Given the description of an element on the screen output the (x, y) to click on. 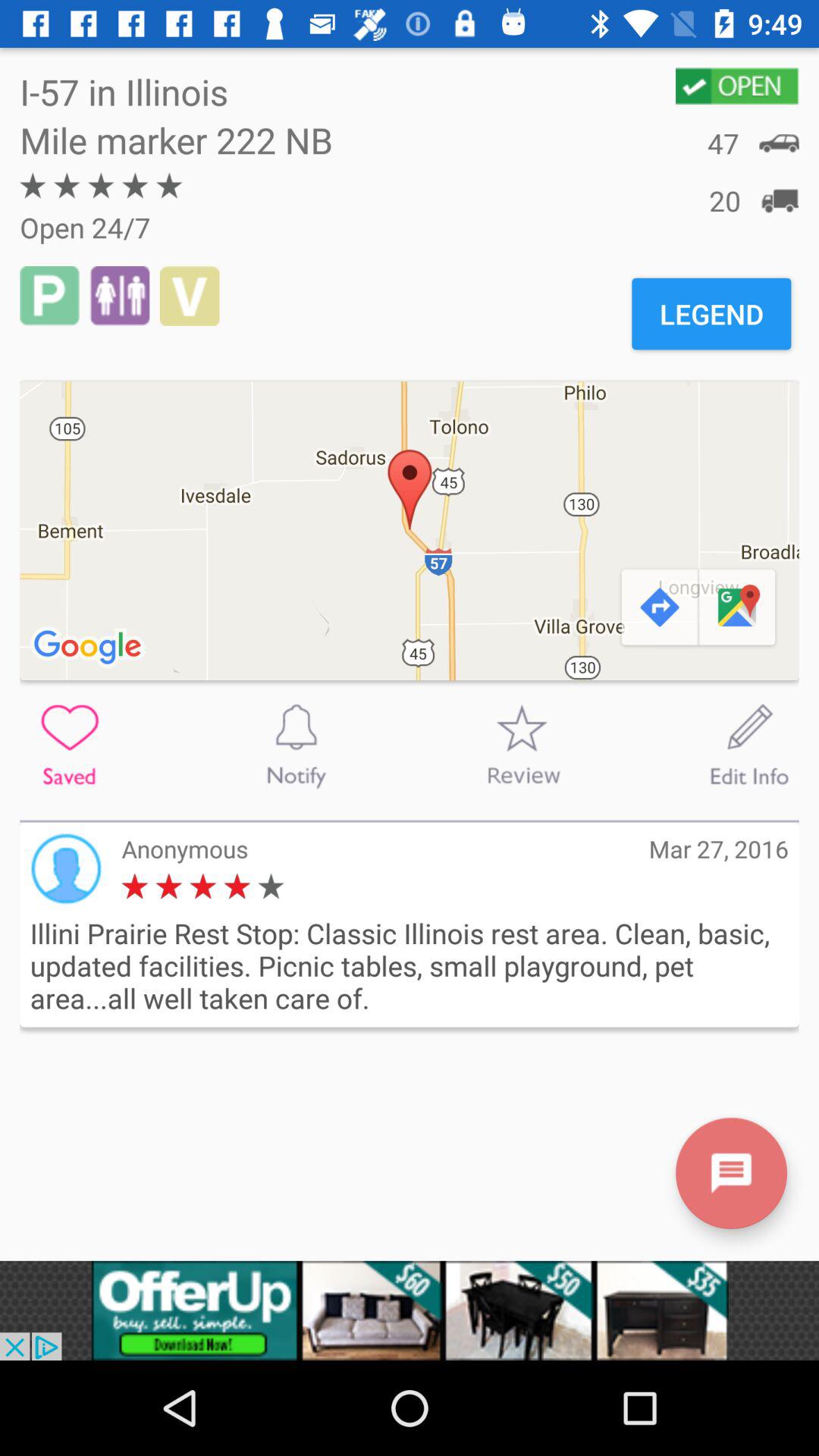
to save or favorite this location (69, 744)
